Given the description of an element on the screen output the (x, y) to click on. 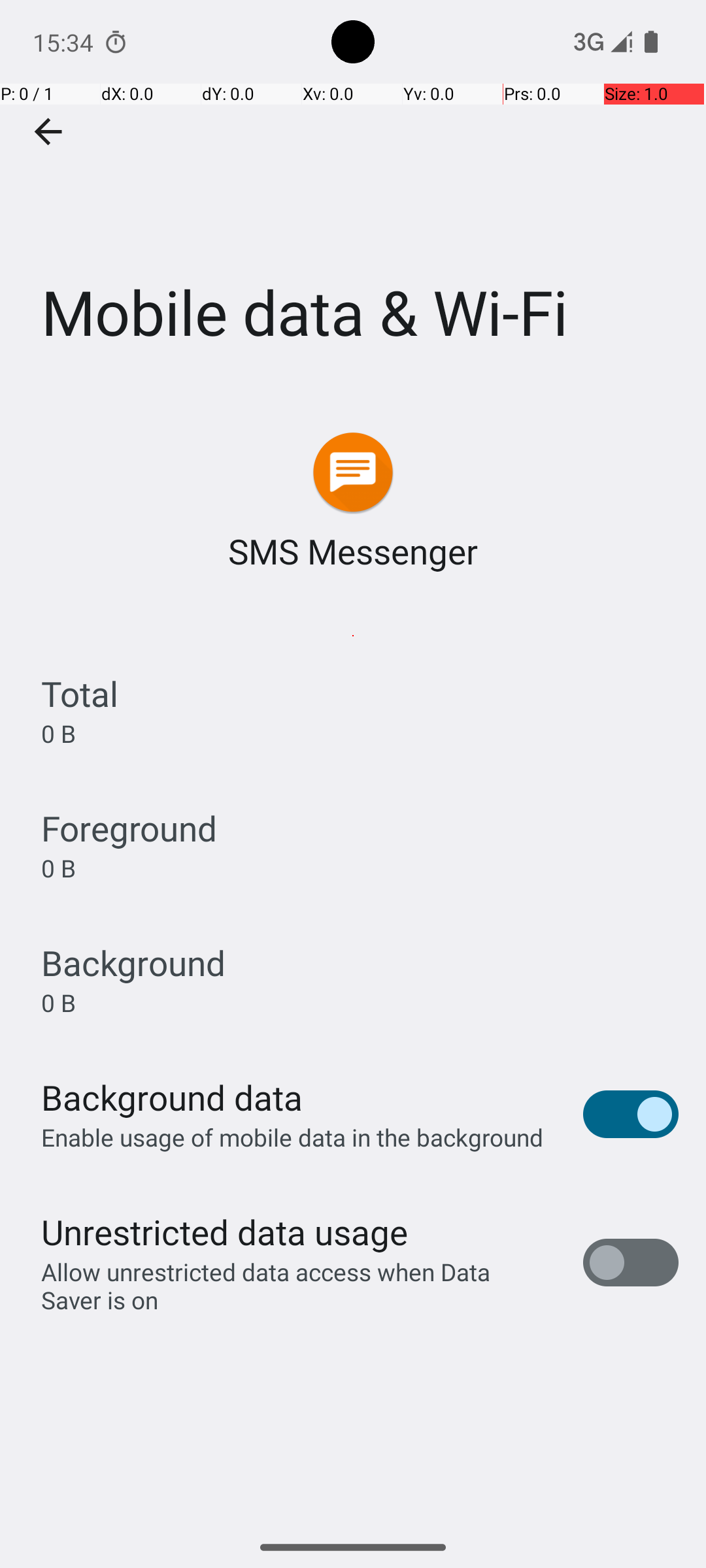
Foreground Element type: android.widget.TextView (129, 827)
Background Element type: android.widget.TextView (133, 962)
Background data Element type: android.widget.TextView (171, 1097)
Enable usage of mobile data in the background Element type: android.widget.TextView (292, 1136)
Unrestricted data usage Element type: android.widget.TextView (224, 1231)
Allow unrestricted data access when Data Saver is on Element type: android.widget.TextView (298, 1285)
